Given the description of an element on the screen output the (x, y) to click on. 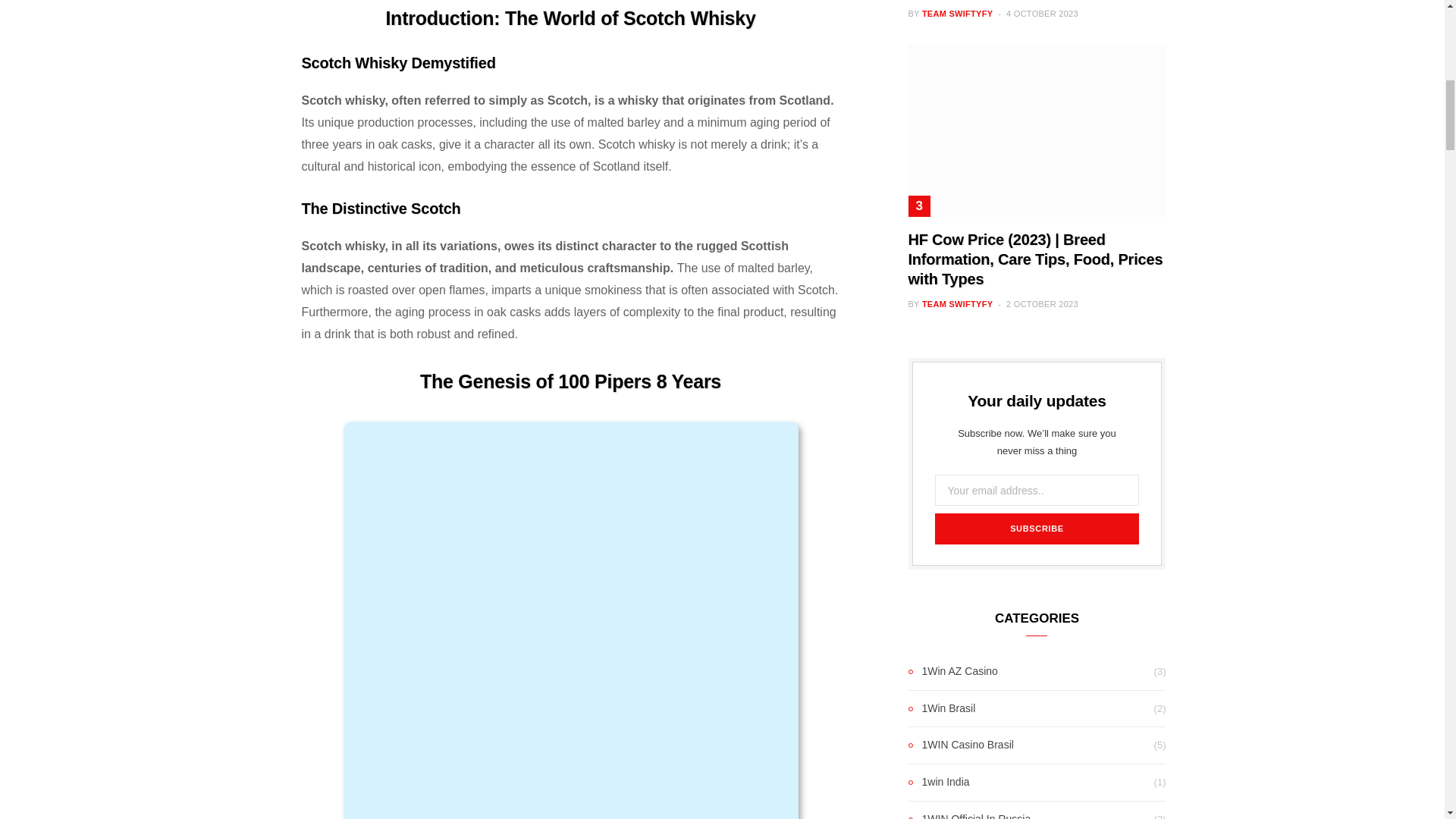
Subscribe (1036, 528)
